Given the description of an element on the screen output the (x, y) to click on. 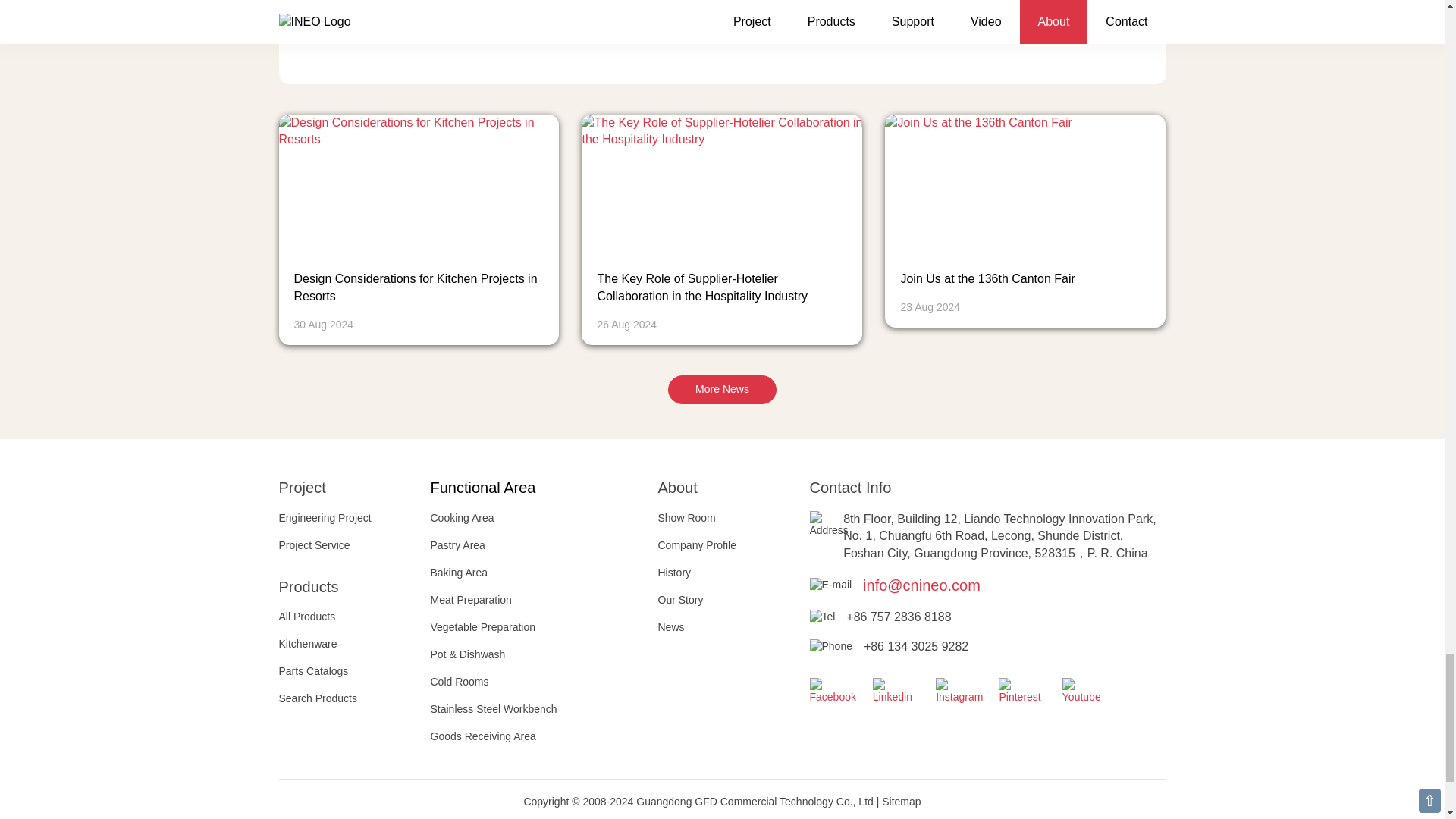
Functional Area (482, 487)
Kitchenware (308, 644)
Engineering Project (325, 517)
Design Considerations for Kitchen Projects in Resorts (415, 286)
More News (722, 389)
Parts Catalogs (314, 671)
All Products (307, 616)
Search Products (318, 698)
Join Us at the 136th Canton Fair (986, 278)
